Given the description of an element on the screen output the (x, y) to click on. 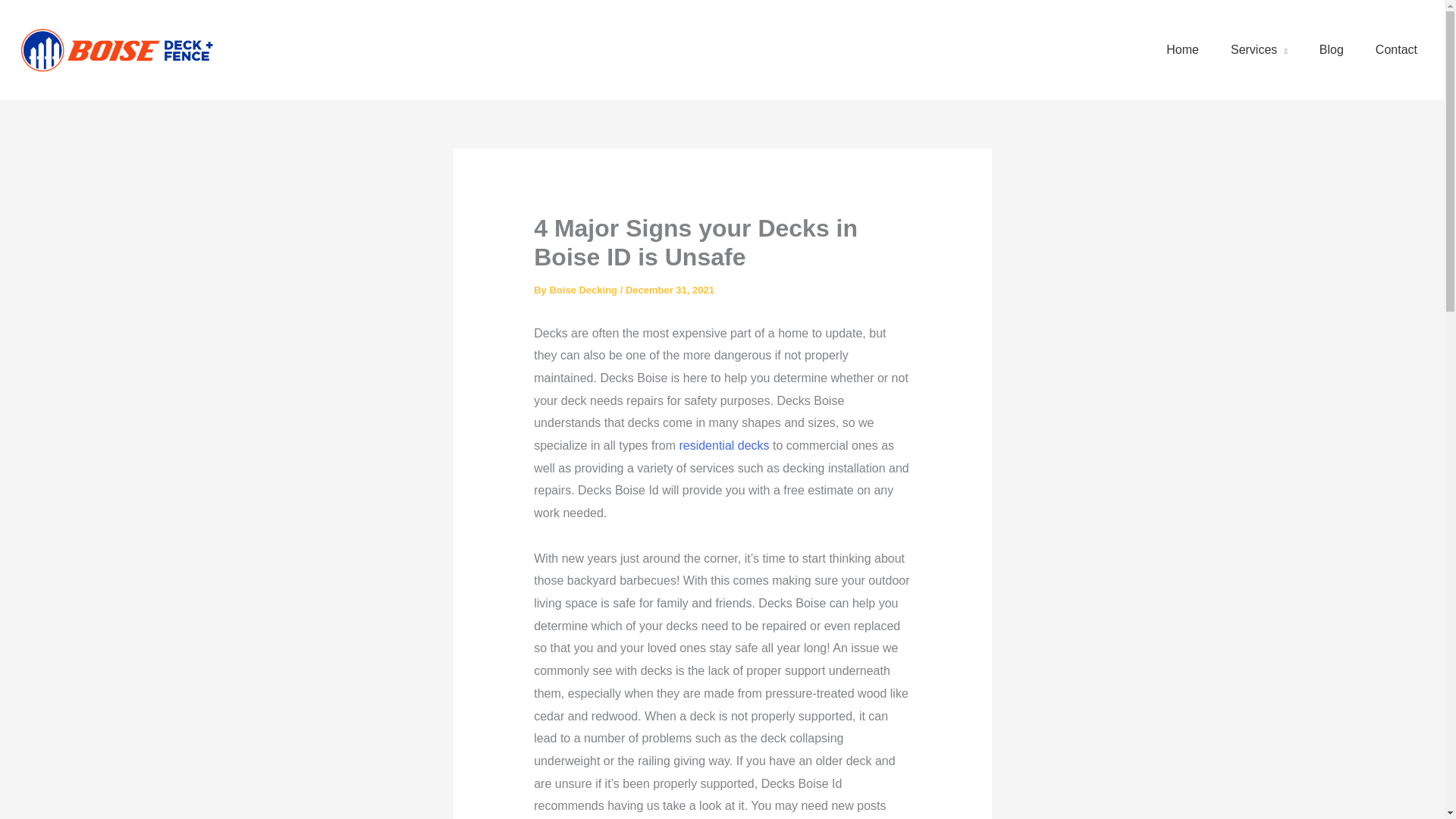
View all posts by Boise Decking (584, 289)
Contact (1395, 49)
residential decks (723, 445)
Blog (1331, 49)
Home (1182, 49)
Services (1259, 49)
Boise Decking (584, 289)
